Given the description of an element on the screen output the (x, y) to click on. 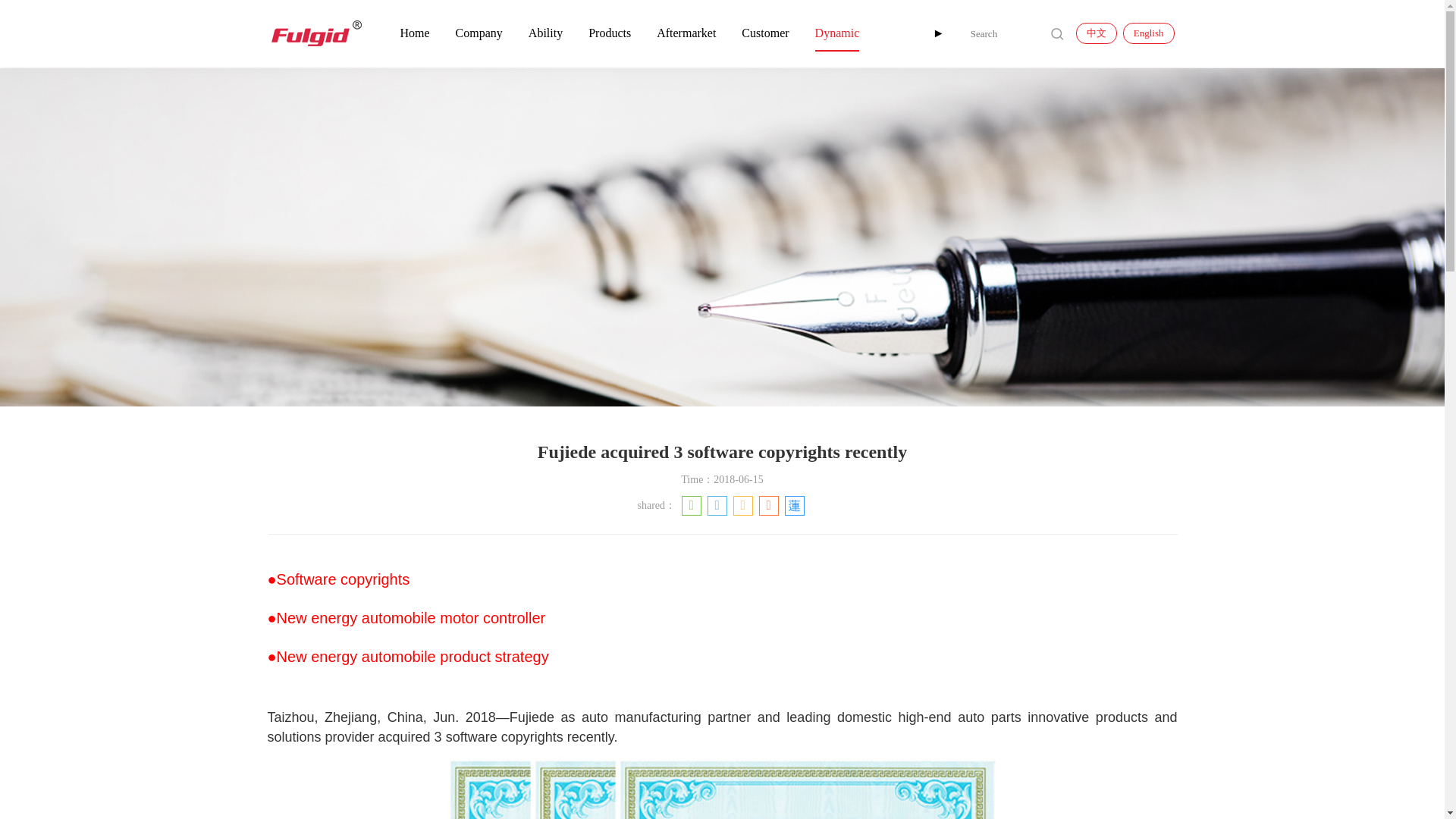
English (1148, 33)
63e5bcb37608a.jpg (722, 783)
English (1148, 33)
